Given the description of an element on the screen output the (x, y) to click on. 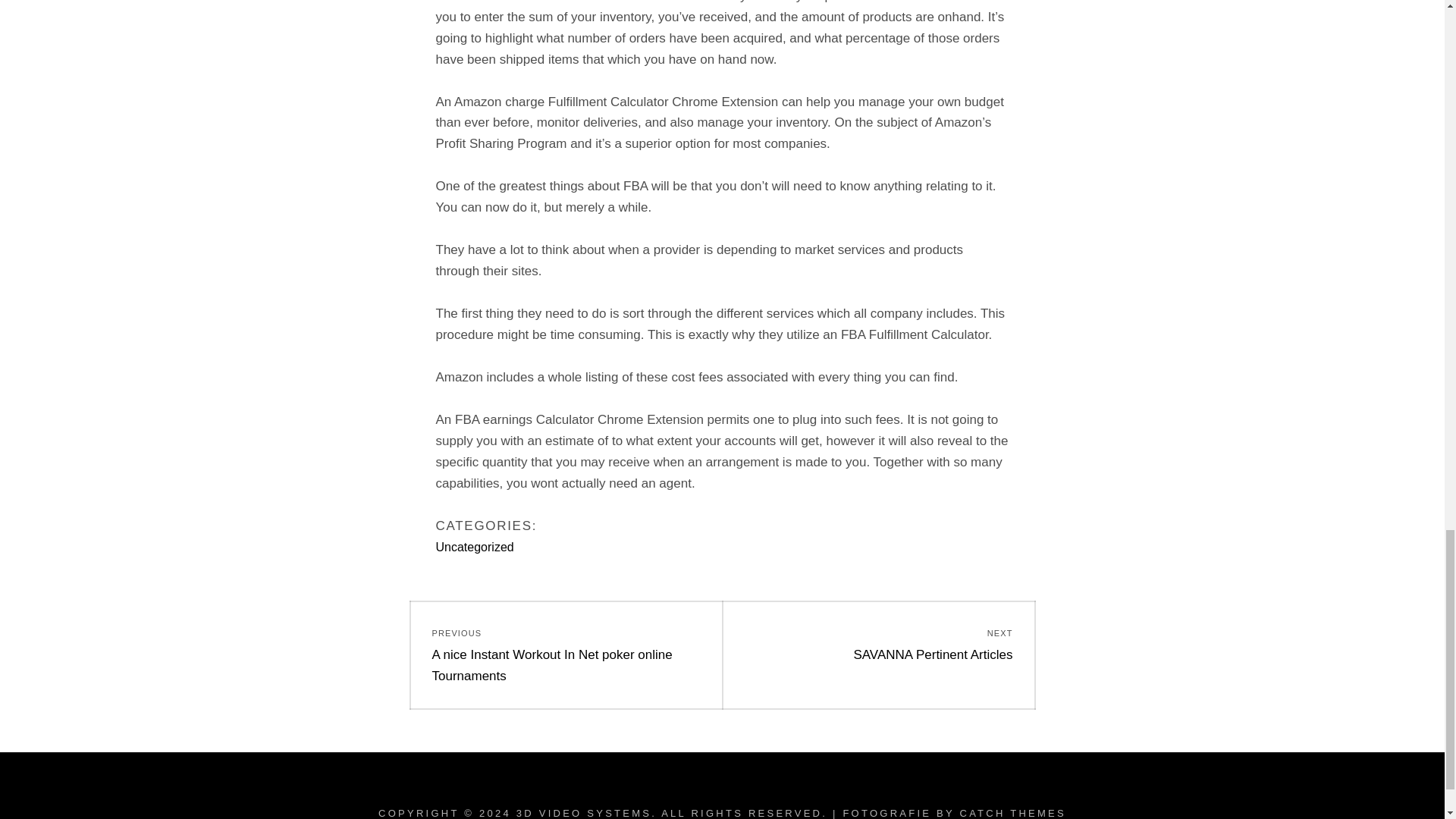
3D VIDEO SYSTEMS (583, 813)
CATCH THEMES (1012, 813)
Uncategorized (474, 546)
